Given the description of an element on the screen output the (x, y) to click on. 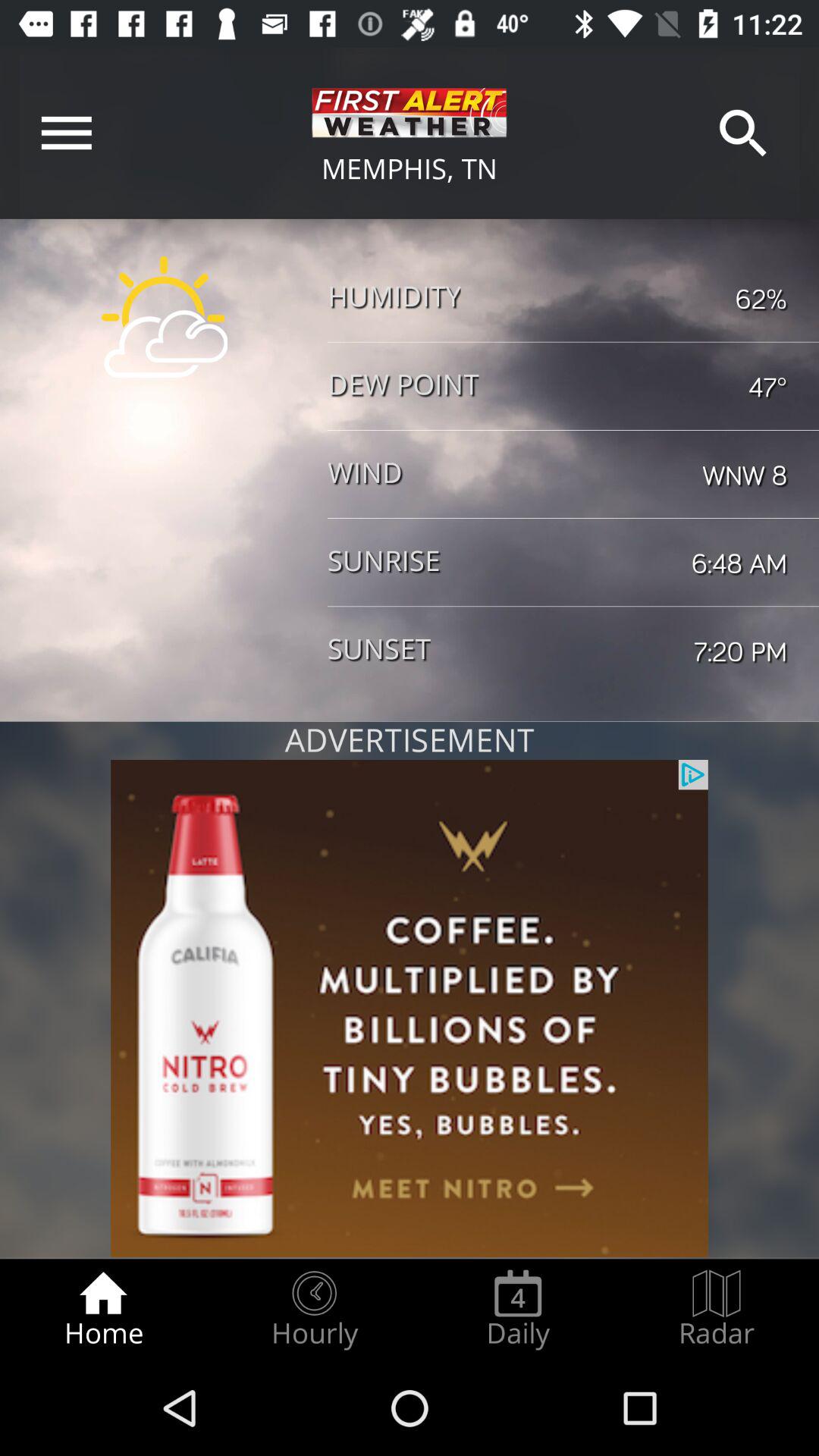
click item to the left of daily icon (314, 1309)
